Given the description of an element on the screen output the (x, y) to click on. 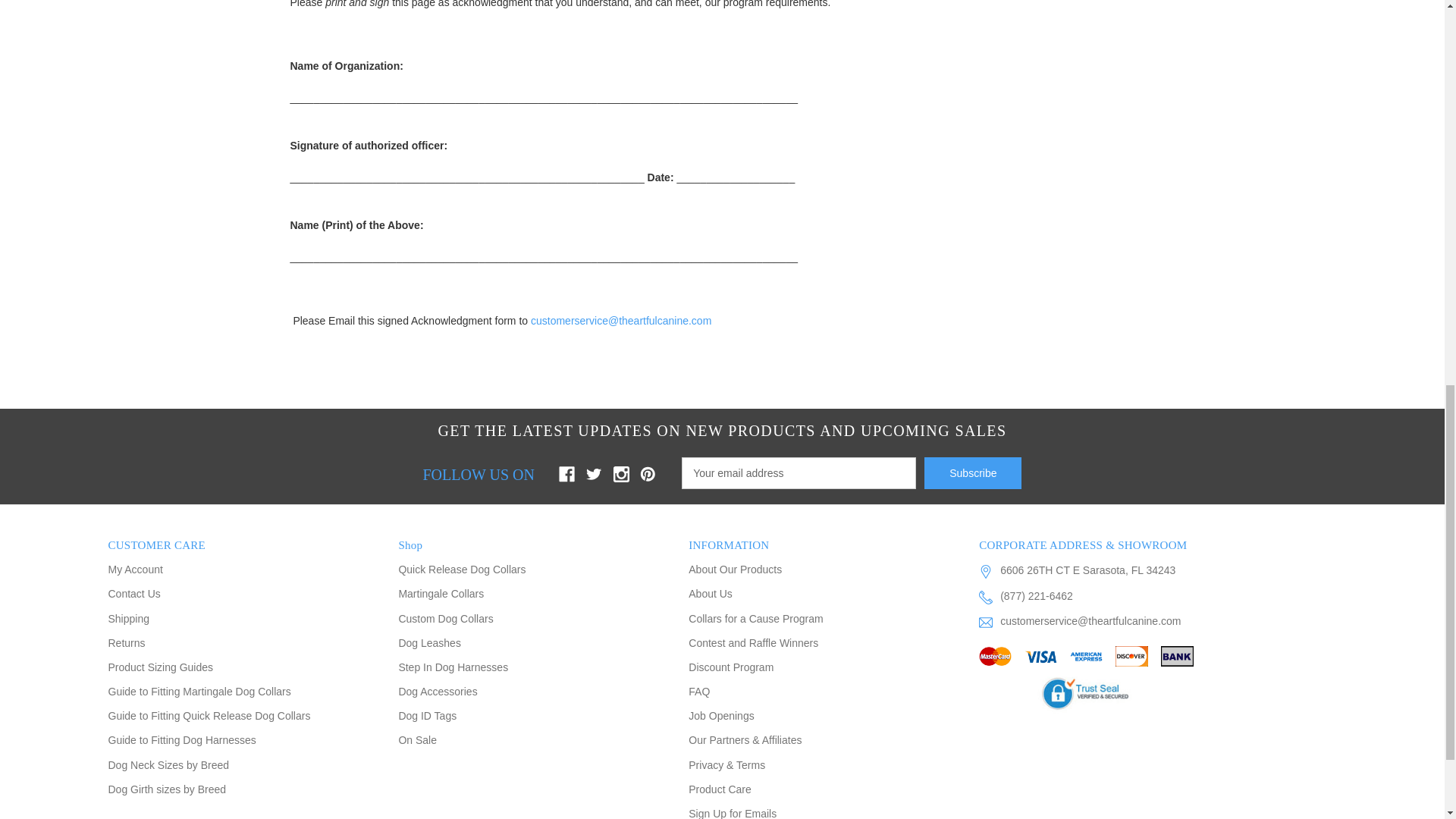
Subscribe (973, 472)
